Given the description of an element on the screen output the (x, y) to click on. 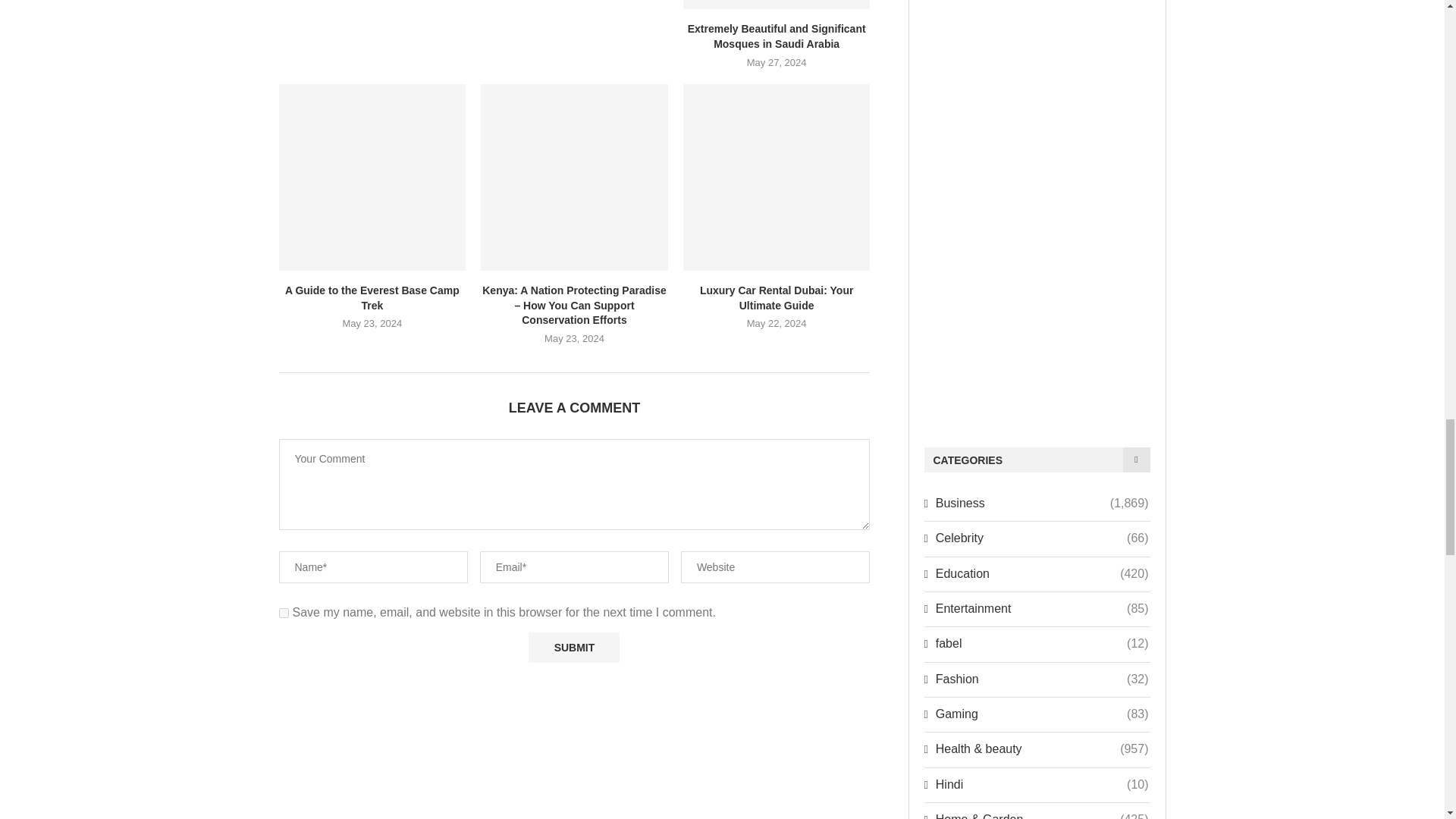
Submit (574, 647)
A Guide to the Everest Base Camp Trek (372, 177)
Extremely Beautiful and Significant Mosques in Saudi Arabia (776, 4)
yes (283, 613)
Luxury Car Rental Dubai: Your Ultimate Guide (776, 177)
